Given the description of an element on the screen output the (x, y) to click on. 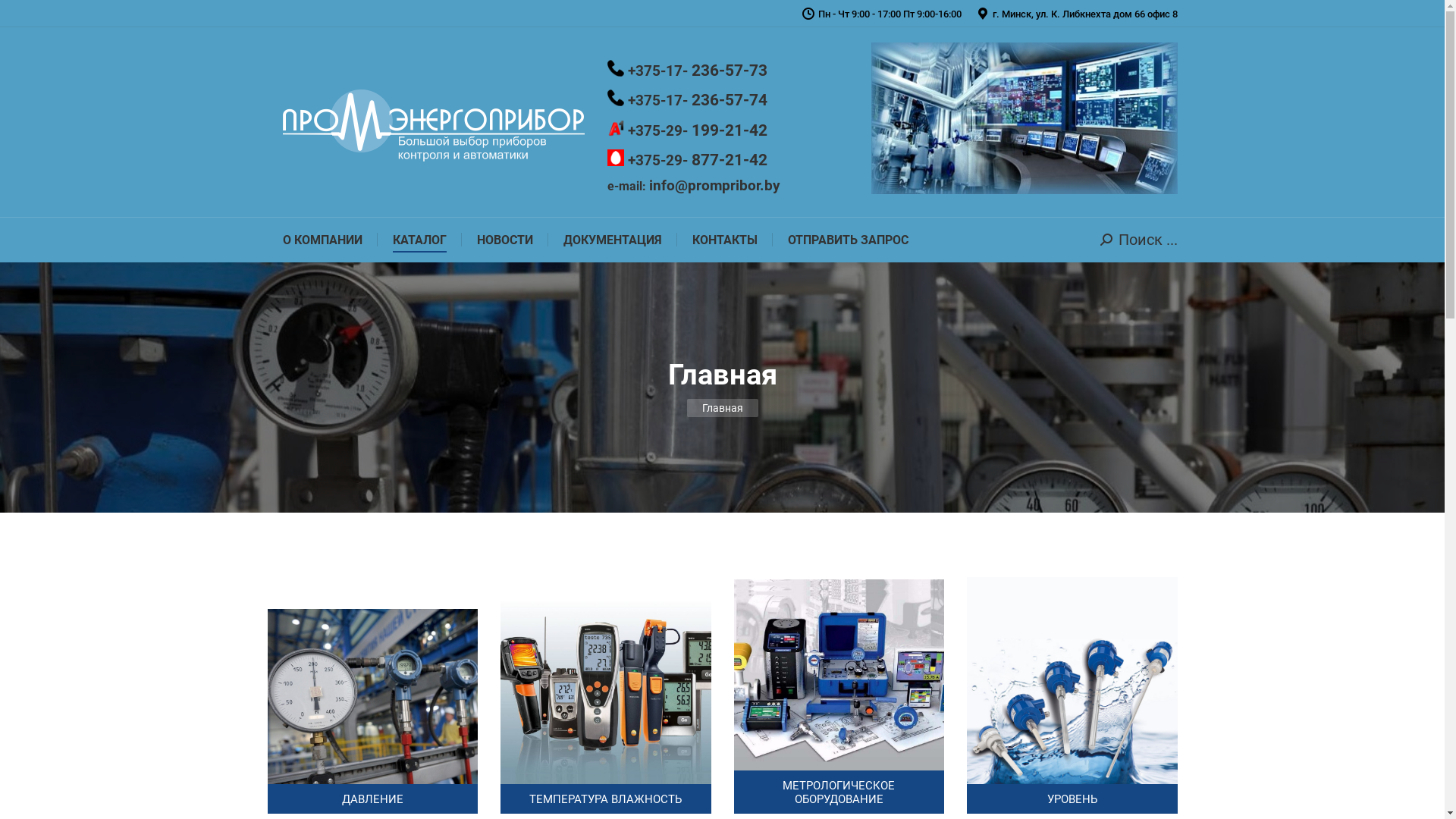
+375-29- 199-21-42 Element type: text (686, 131)
+375-17- 236-57-73 Element type: text (686, 71)
e-mail: info@prompribor.by Element type: text (692, 185)
+375-17- 236-57-74 Element type: text (686, 101)
+375-29- 877-21-42 Element type: text (686, 160)
